Given the description of an element on the screen output the (x, y) to click on. 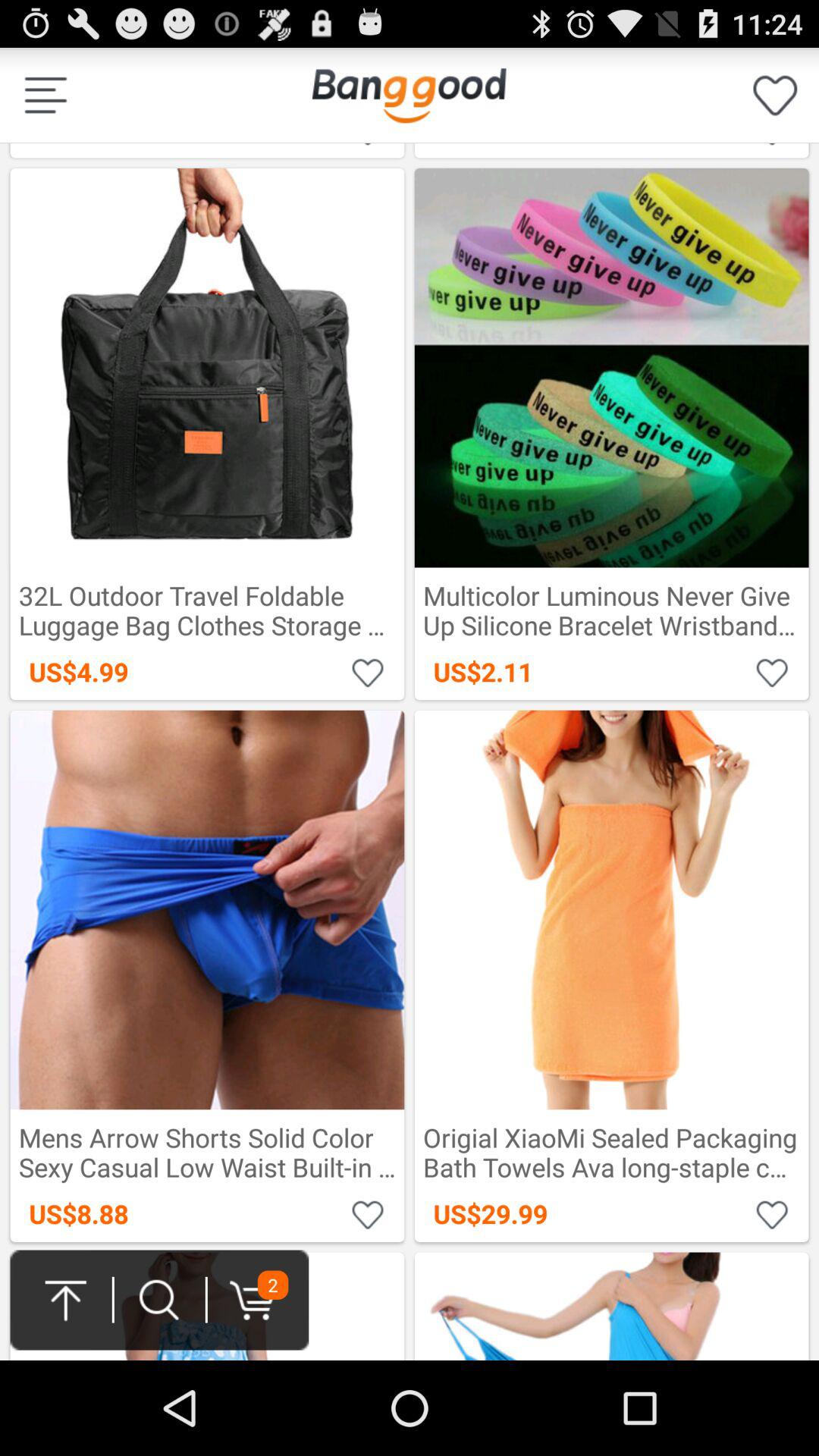
favorite item (368, 1213)
